Given the description of an element on the screen output the (x, y) to click on. 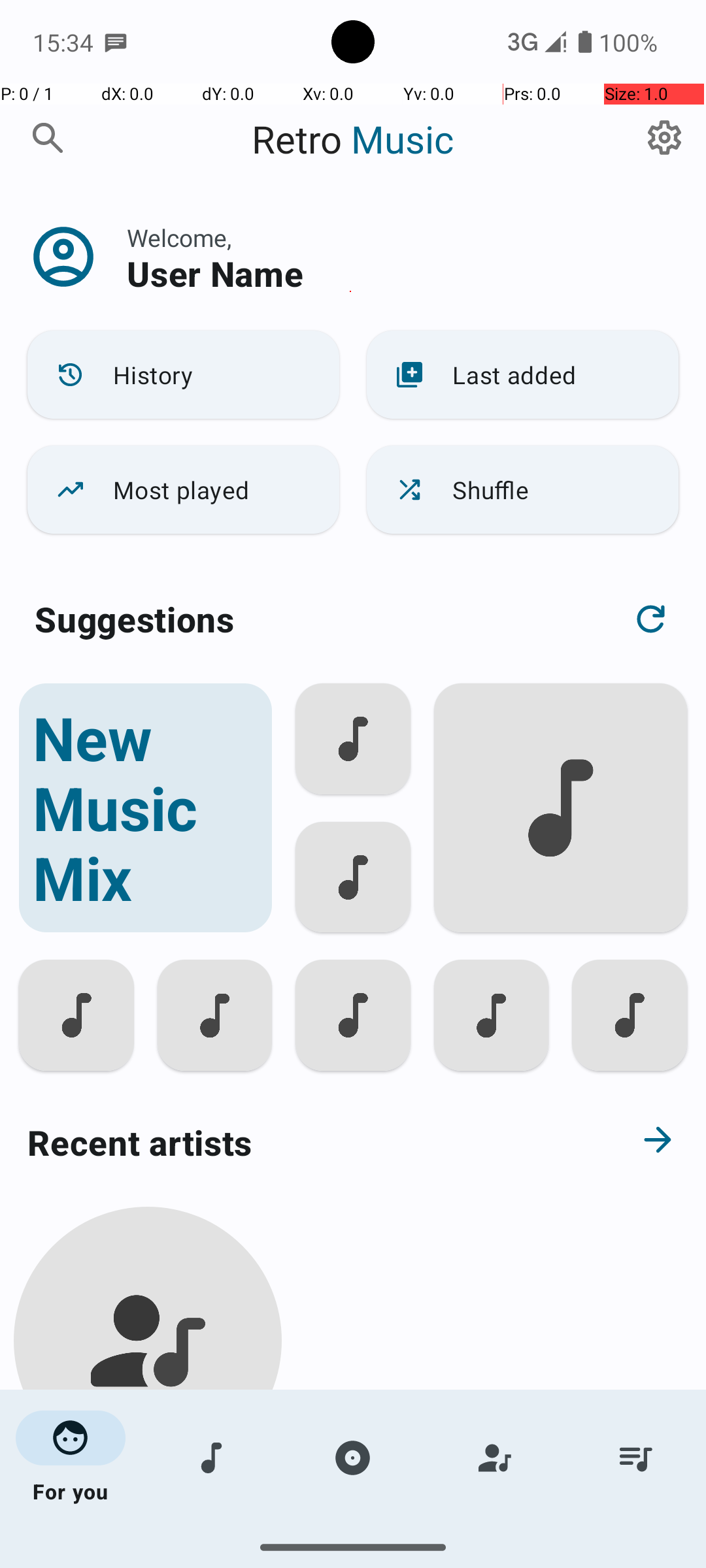
Retro Music Element type: android.widget.TextView (352, 138)
For you Element type: android.widget.FrameLayout (70, 1457)
Songs Element type: android.widget.FrameLayout (211, 1457)
Albums Element type: android.widget.FrameLayout (352, 1457)
Artists Element type: android.widget.FrameLayout (493, 1457)
Welcome, Element type: android.widget.TextView (179, 237)
User Name Element type: android.widget.TextView (214, 273)
Last added Element type: android.widget.Button (522, 374)
Most played Element type: android.widget.Button (183, 489)
Suggestions Element type: android.widget.TextView (134, 618)
New Music Mix Element type: android.widget.TextView (144, 807)
Recent artists Element type: android.widget.TextView (304, 1141)
Recent albums Element type: android.widget.TextView (304, 1557)
Mila Element type: android.widget.TextView (147, 1503)
